Given the description of an element on the screen output the (x, y) to click on. 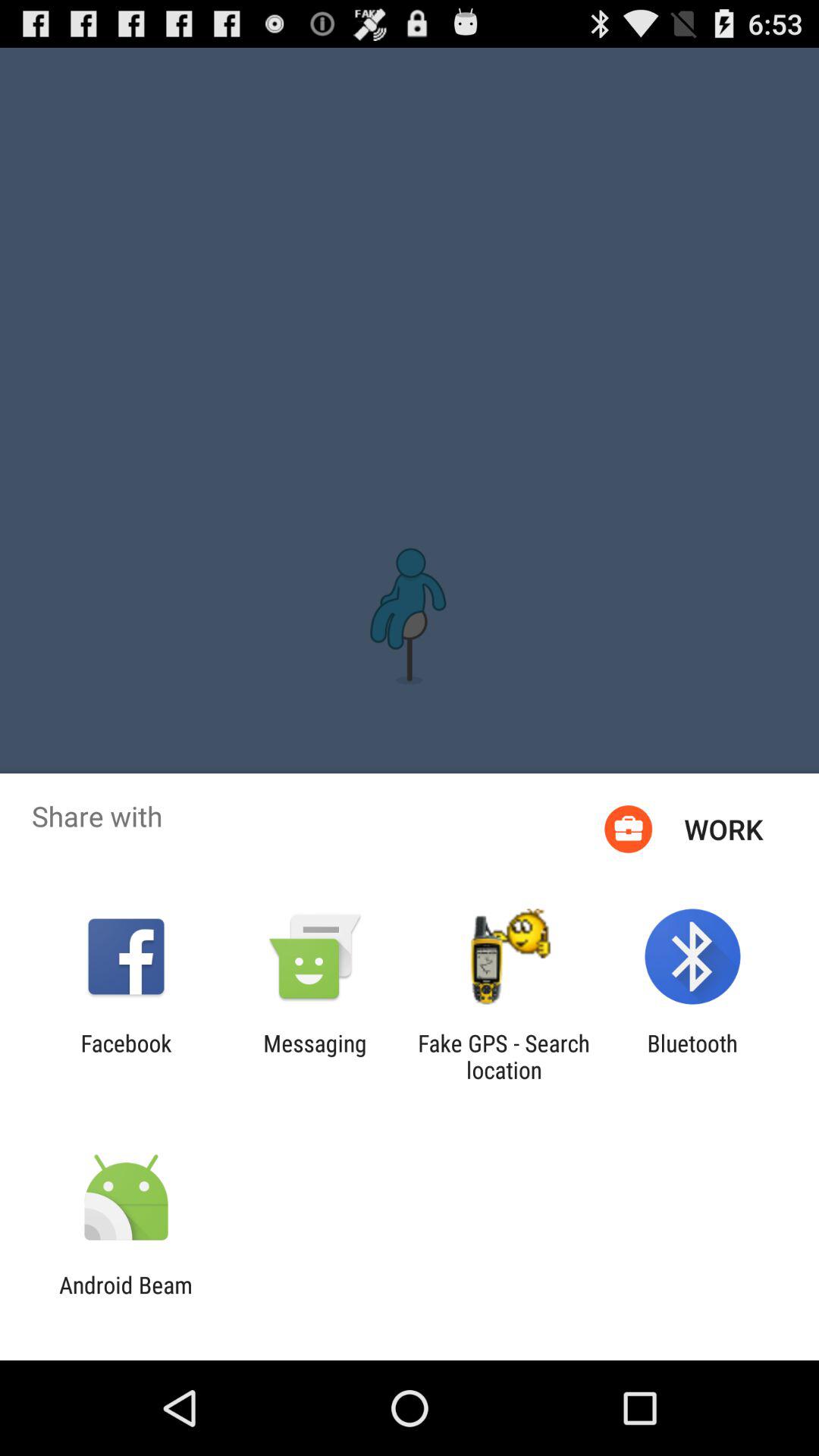
select android beam app (125, 1298)
